Given the description of an element on the screen output the (x, y) to click on. 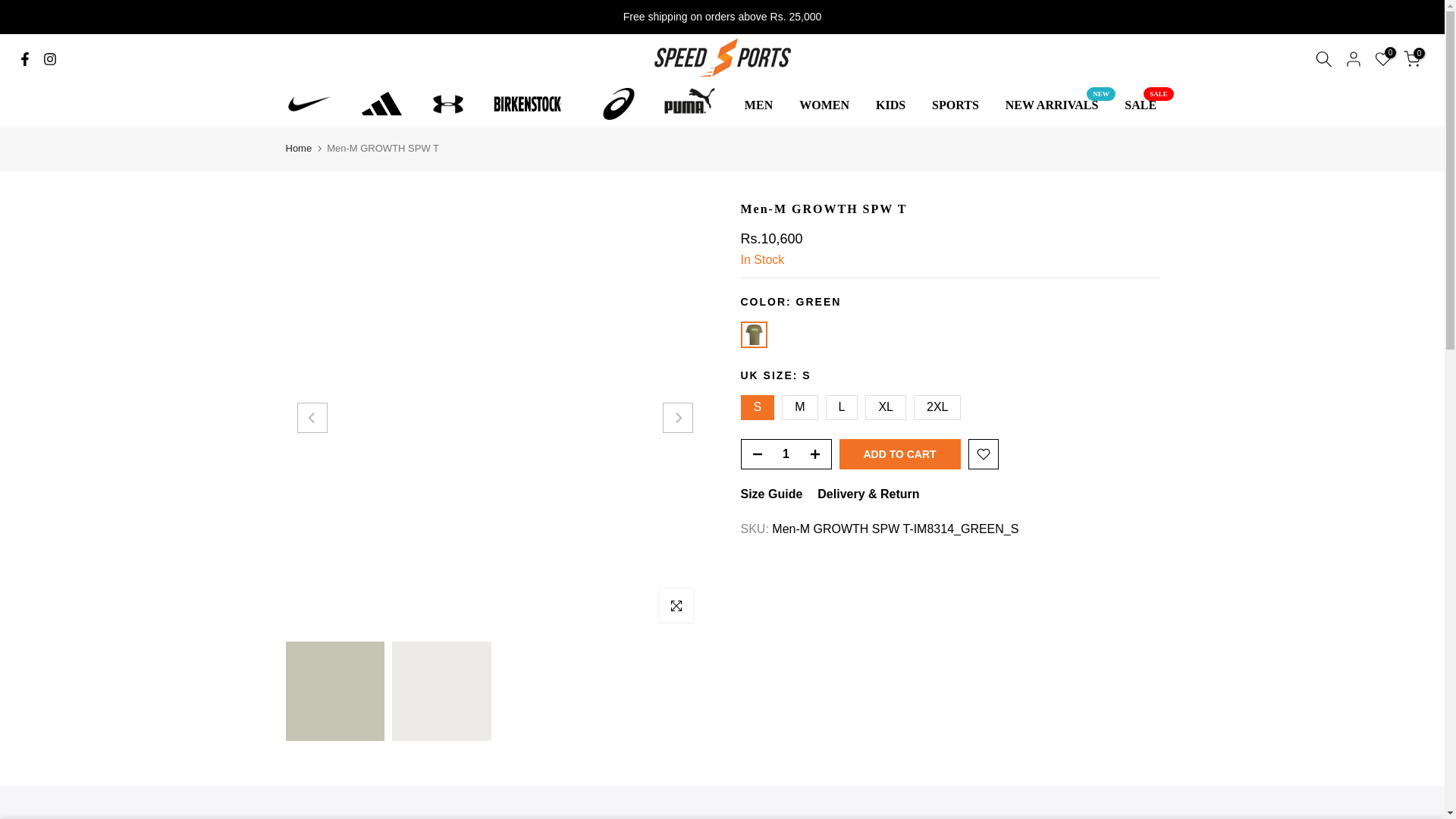
0 (1412, 57)
1 (786, 453)
GREEN (753, 334)
Skip to content (10, 7)
0 (1382, 57)
